Given the description of an element on the screen output the (x, y) to click on. 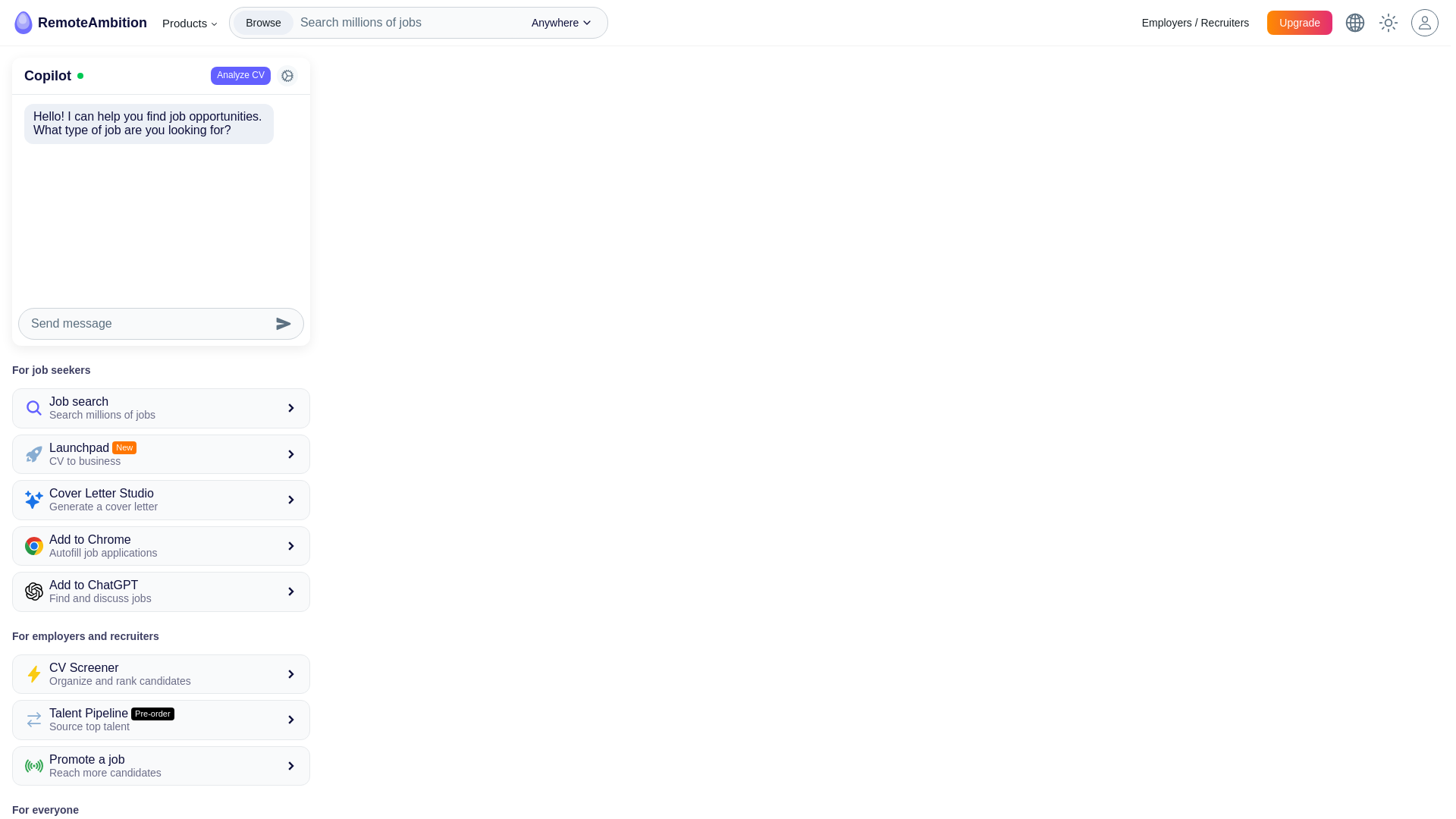
Browse (160, 454)
Products (263, 22)
RemoteAmbition (190, 22)
Upgrade (79, 22)
